Given the description of an element on the screen output the (x, y) to click on. 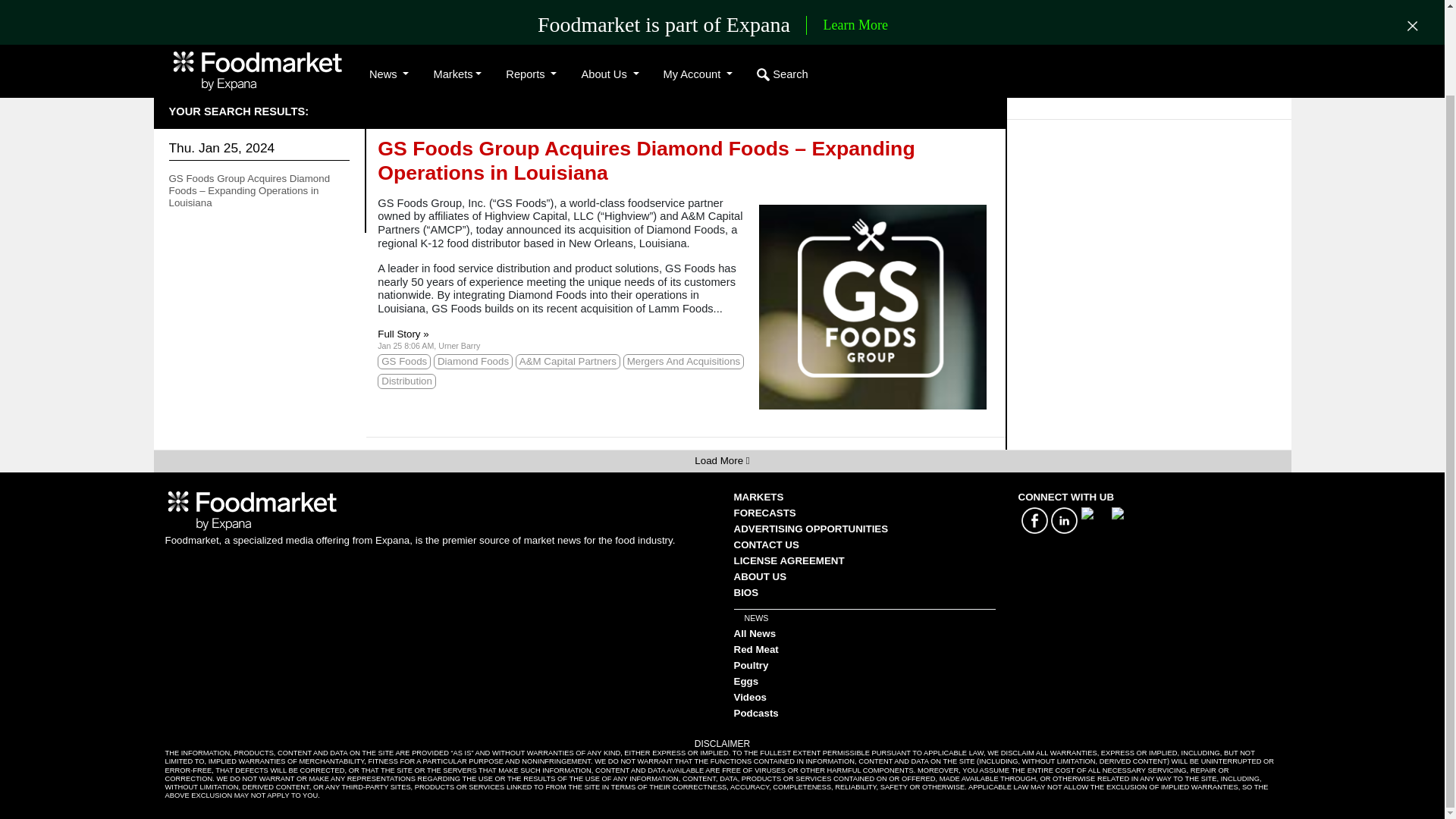
on (481, 68)
on (396, 68)
on (574, 68)
